Given the description of an element on the screen output the (x, y) to click on. 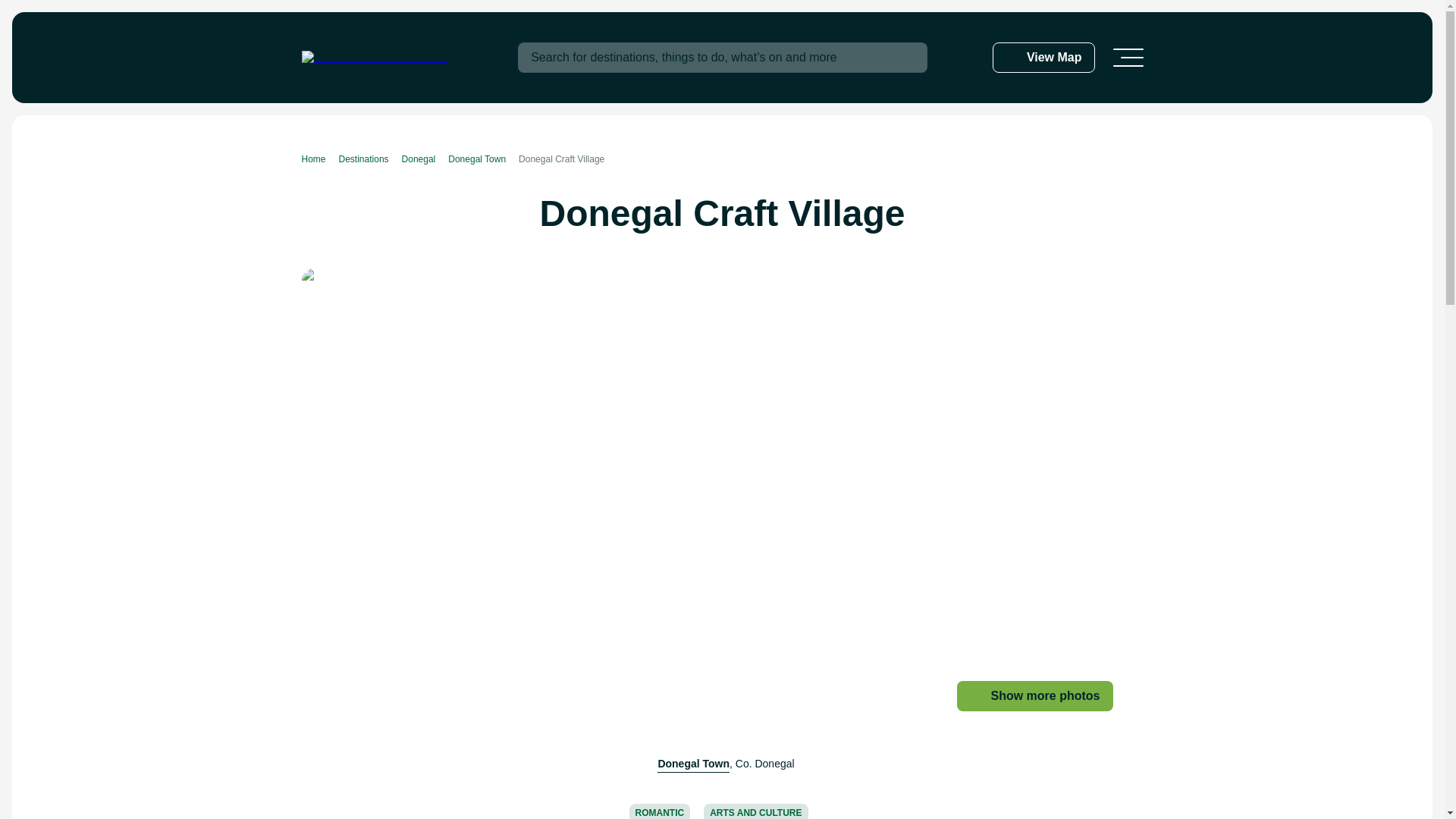
ROMANTIC (659, 811)
Donegal Town (483, 158)
Destinations (370, 159)
Donegal Town (693, 763)
Donegal (424, 159)
Click to go back to the homepage (374, 57)
Home (320, 159)
ARTS AND CULTURE (755, 811)
View Map (1043, 57)
Show more photos (1034, 695)
